Given the description of an element on the screen output the (x, y) to click on. 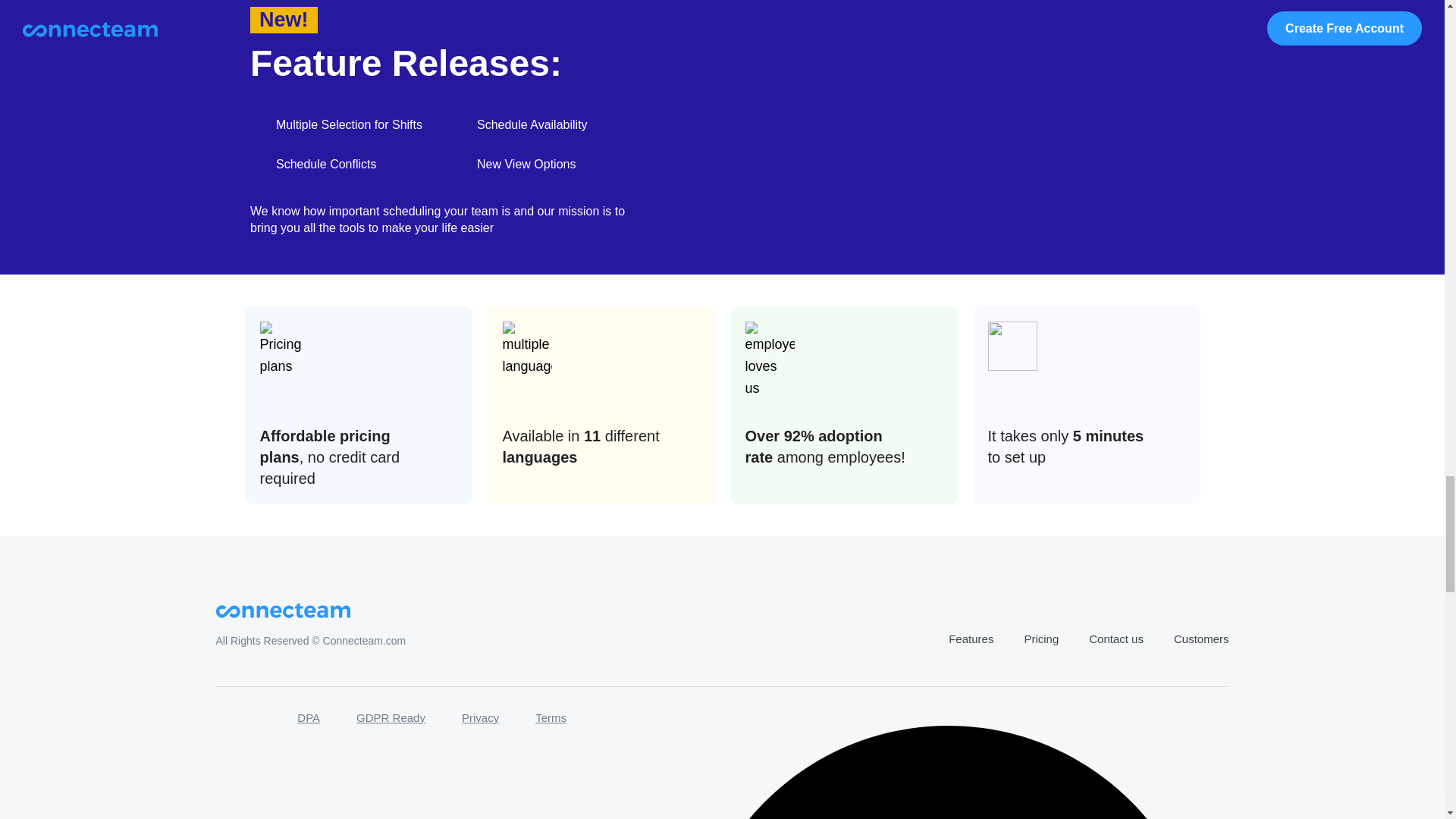
Customers (1200, 638)
Terms (550, 717)
Contact us (1115, 638)
GDPR Ready (390, 717)
DPA (308, 717)
Pricing (1040, 638)
Privacy (480, 717)
Features (970, 638)
